Given the description of an element on the screen output the (x, y) to click on. 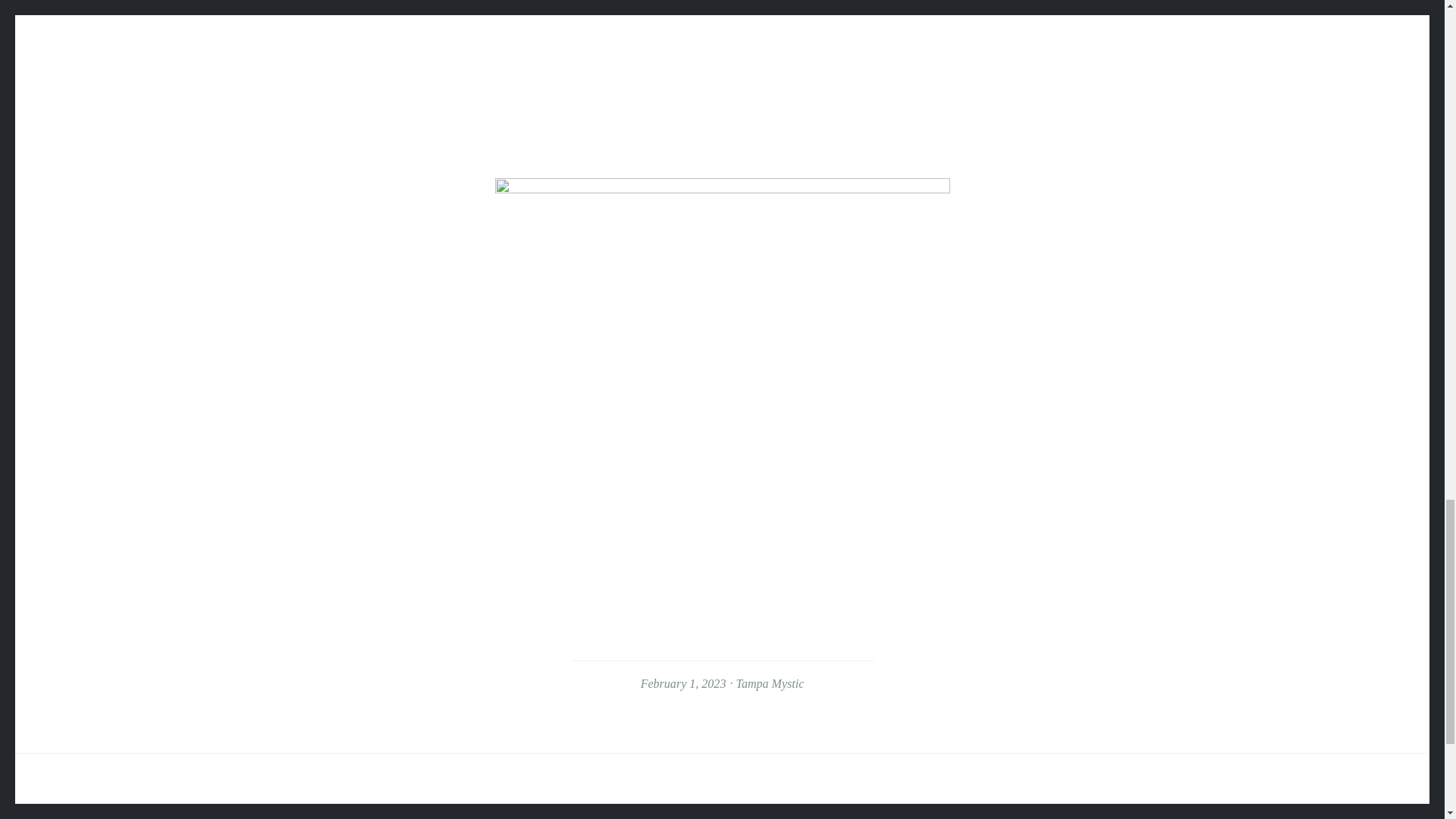
YouTube video player (721, 67)
Tampa Mystic (769, 683)
February 1, 2023 (683, 683)
